Given the description of an element on the screen output the (x, y) to click on. 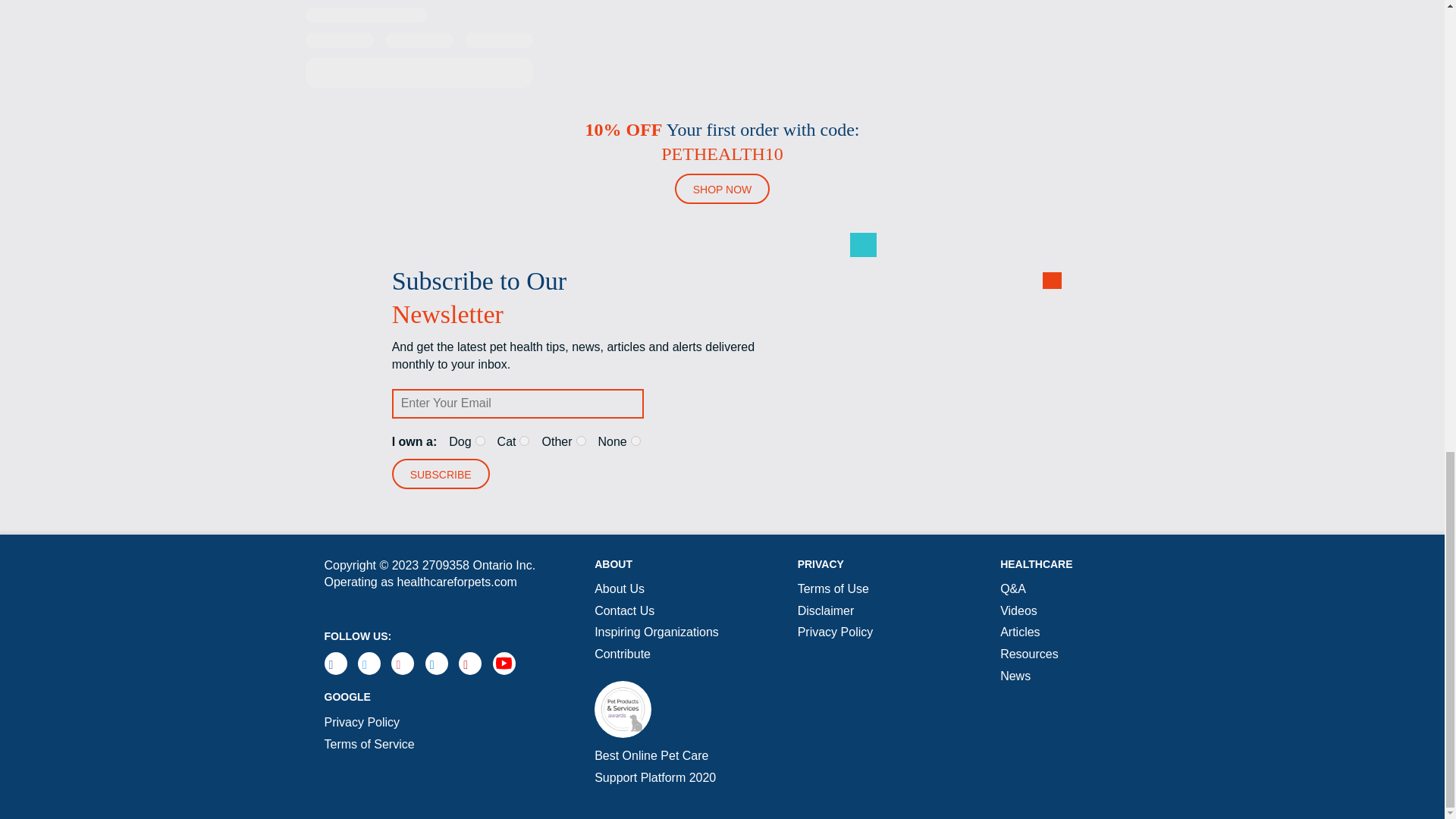
Dog (480, 440)
About Us (619, 588)
Contact Us (623, 610)
Subscribe (440, 473)
Terms of Service (369, 744)
Cat (524, 440)
None (635, 440)
Other (581, 440)
SHOP NOW (722, 188)
Privacy Policy (362, 721)
Subscribe (440, 473)
